Given the description of an element on the screen output the (x, y) to click on. 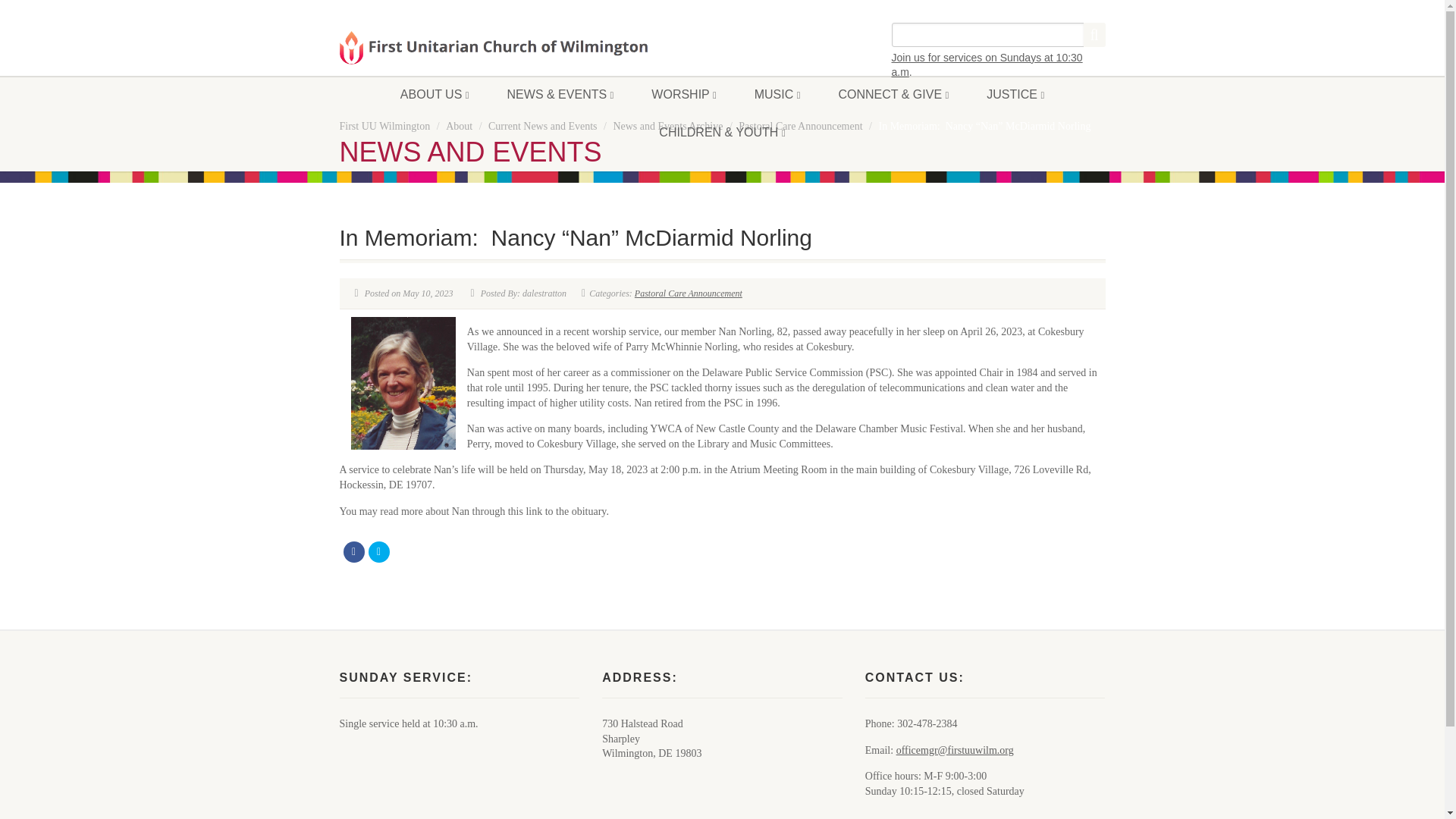
Go to First UU Wilmington. (384, 125)
ABOUT US (434, 94)
WORSHIP (683, 94)
Go to the Pastoral Care Announcement Category archives. (799, 125)
Return to Homepage (493, 47)
Share on Facebook (353, 551)
Go to Current News and Events. (541, 125)
Tweet (379, 551)
Go to About. (458, 125)
Go to News and Events Archive. (667, 125)
